Given the description of an element on the screen output the (x, y) to click on. 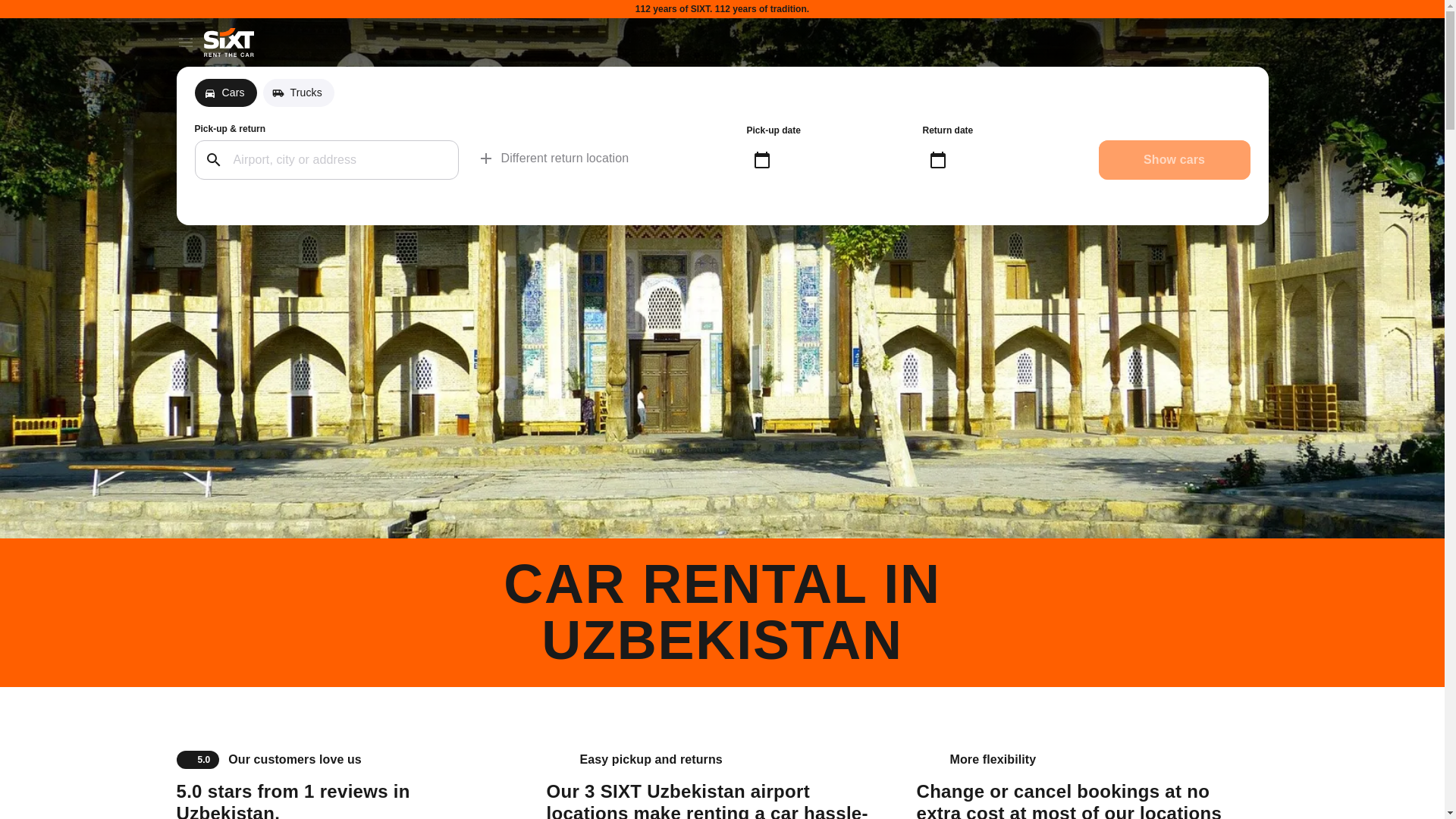
Trucks (298, 92)
Show cars (1173, 159)
